Given the description of an element on the screen output the (x, y) to click on. 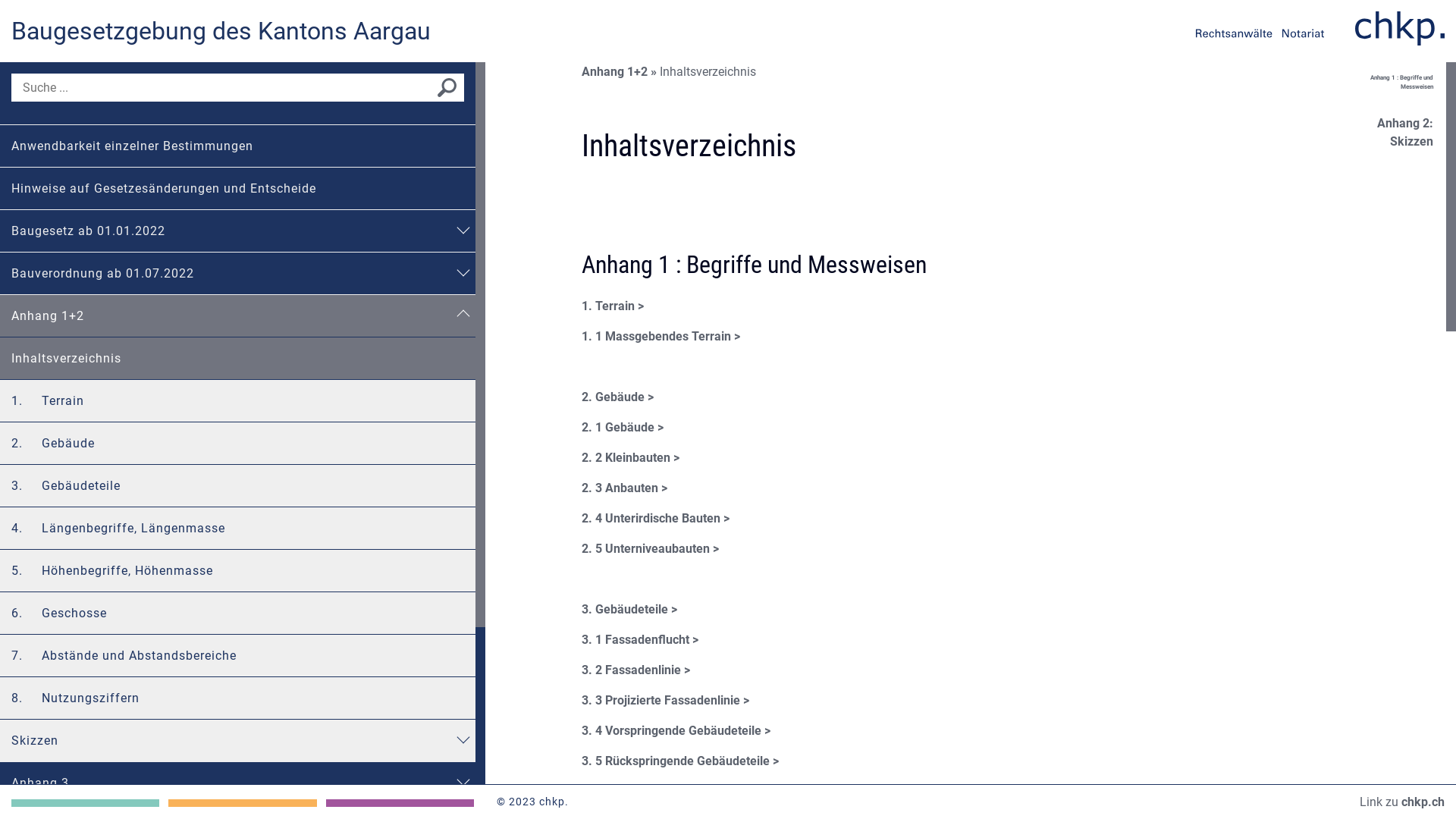
Anhang 3 Element type: text (225, 782)
  Element type: text (85, 802)
6.
Geschosse Element type: text (237, 612)
1. Terrain > Element type: text (612, 305)
3. 1 Fassadenflucht > Element type: text (639, 639)
Skizzen Element type: text (225, 740)
  Element type: text (399, 802)
  Element type: text (242, 802)
Anhang 1+2 Element type: text (225, 315)
2. 3 Anbauten > Element type: text (624, 487)
Inhaltsverzeichnis Element type: text (237, 358)
Baugesetz ab 01.01.2022 Element type: text (225, 230)
Finden Element type: text (446, 90)
3. 3 Projizierte Fassadenlinie > Element type: text (665, 700)
Bauverordnung ab 01.07.2022 Element type: text (225, 273)
3. 2 Fassadenlinie > Element type: text (635, 669)
8.
Nutzungsziffern Element type: text (237, 697)
1.
Terrain Element type: text (237, 400)
2. 2 Kleinbauten > Element type: text (630, 457)
chkp.ch Element type: text (1422, 801)
2. 5 Unterniveaubauten > Element type: text (649, 548)
1. 1 Massgebendes Terrain > Element type: text (660, 336)
2. 4 Unterirdische Bauten > Element type: text (655, 518)
Anhang 2: Skizzen Element type: text (1398, 132)
Anhang 1 : Begriffe und Messweisen Element type: text (1398, 82)
Anwendbarkeit einzelner Bestimmungen Element type: text (237, 145)
Anhang 1+2 Element type: text (620, 71)
